Given the description of an element on the screen output the (x, y) to click on. 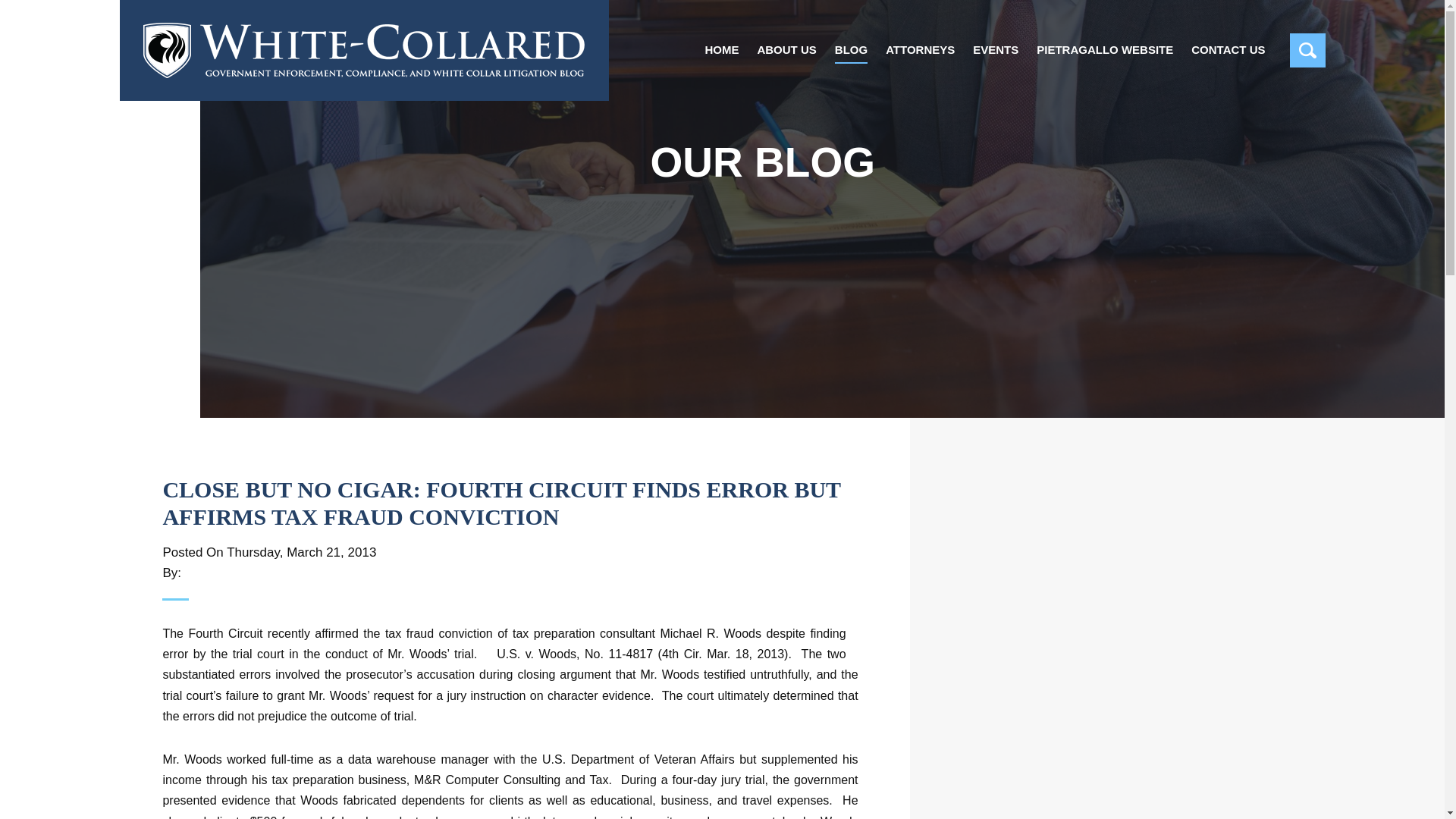
EVENTS (994, 53)
CONTACT US (1228, 53)
PIETRAGALLO WEBSITE (1104, 53)
HOME (721, 53)
ABOUT US (786, 53)
BLOG (850, 53)
ATTORNEYS (920, 53)
